Given the description of an element on the screen output the (x, y) to click on. 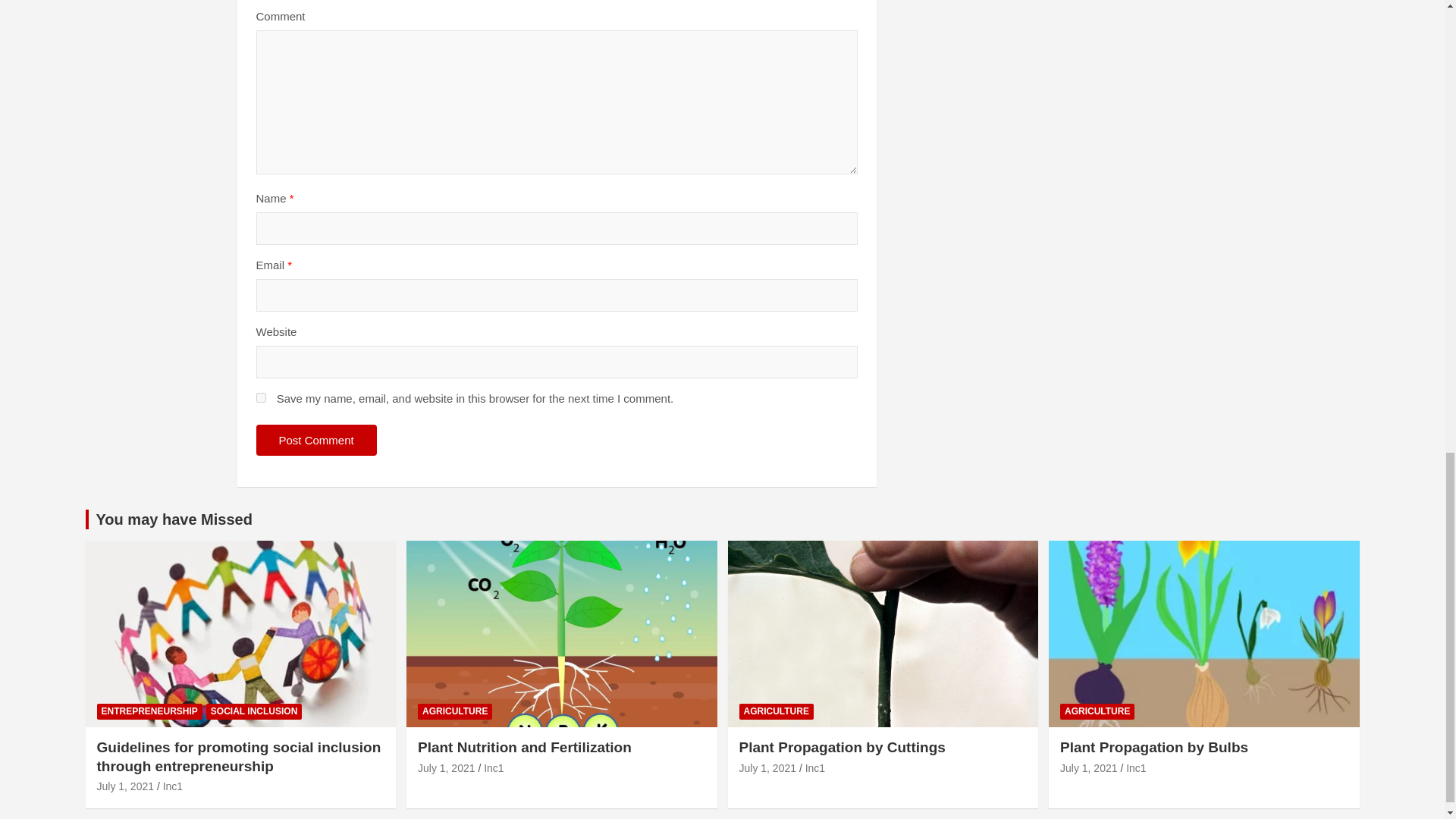
ENTREPRENEURSHIP (149, 711)
Plant Propagation by Cuttings (767, 767)
yes (261, 397)
Plant Nutrition and Fertilization (446, 767)
Inc1 (173, 786)
Plant Propagation by Bulbs (1088, 767)
Post Comment (316, 440)
July 1, 2021 (125, 786)
AGRICULTURE (454, 711)
